Given the description of an element on the screen output the (x, y) to click on. 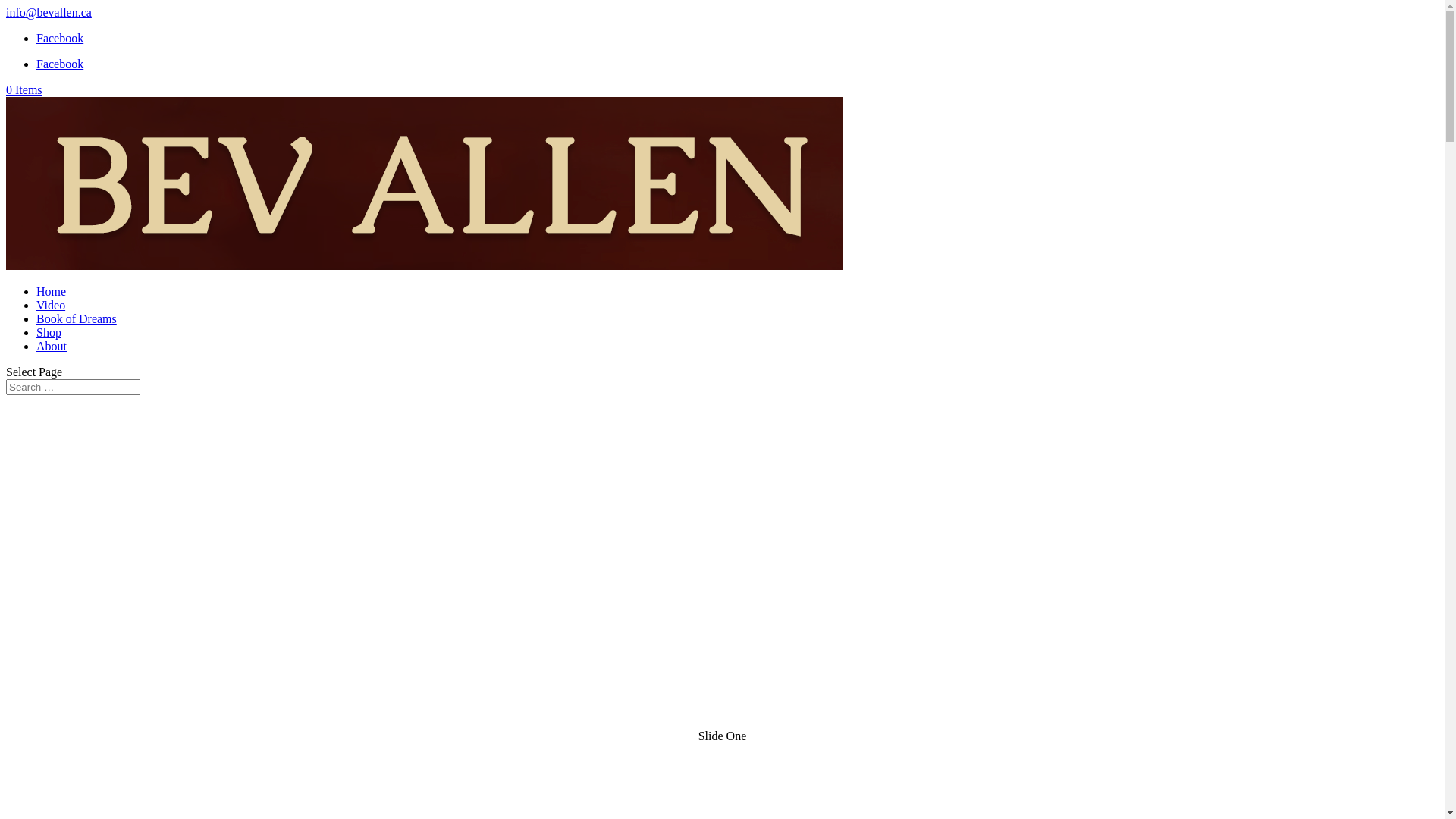
Search for: Element type: hover (73, 387)
Video Element type: text (50, 304)
Shop Element type: text (48, 332)
info@bevallen.ca Element type: text (48, 12)
0 Items Element type: text (24, 89)
Facebook Element type: text (59, 63)
Home Element type: text (50, 291)
Facebook Element type: text (59, 37)
About Element type: text (51, 345)
Book of Dreams Element type: text (76, 318)
